Given the description of an element on the screen output the (x, y) to click on. 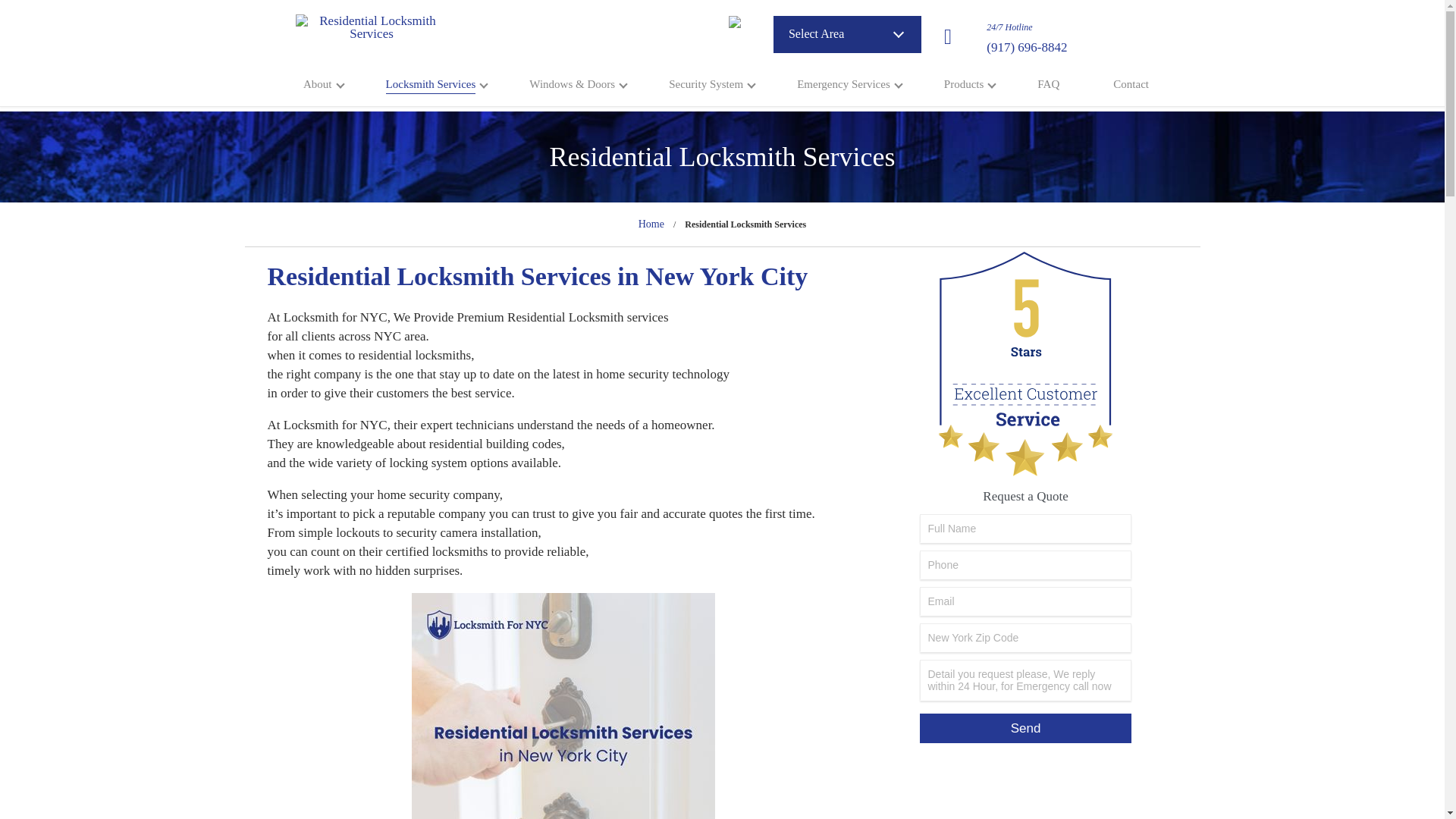
Send (1024, 728)
Locksmith For NYC, Locksmith New York City (370, 36)
About (316, 85)
Locksmith Services (430, 84)
